Given the description of an element on the screen output the (x, y) to click on. 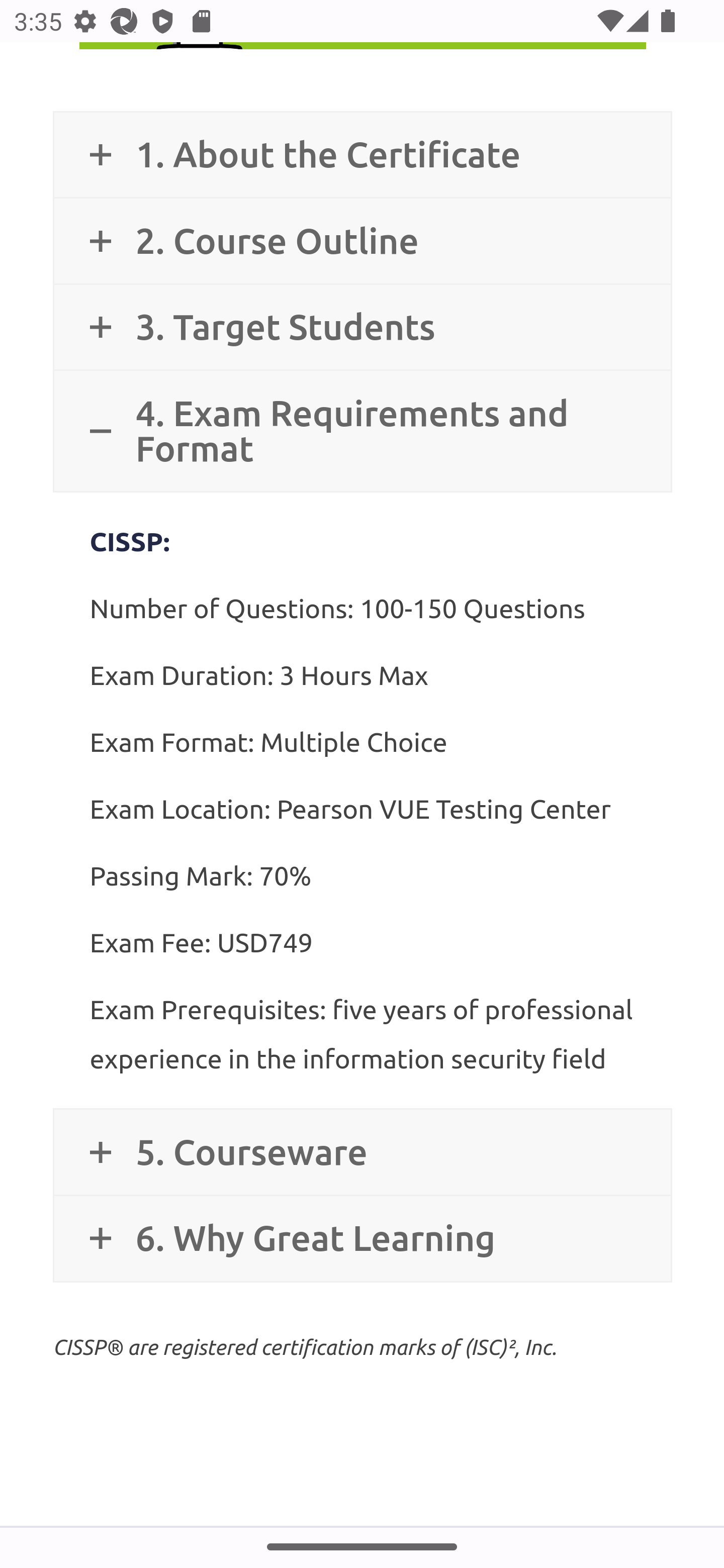
2. Course Outline (361, 242)
5. Courseware 5. Courseware 5. Courseware (361, 1153)
